Given the description of an element on the screen output the (x, y) to click on. 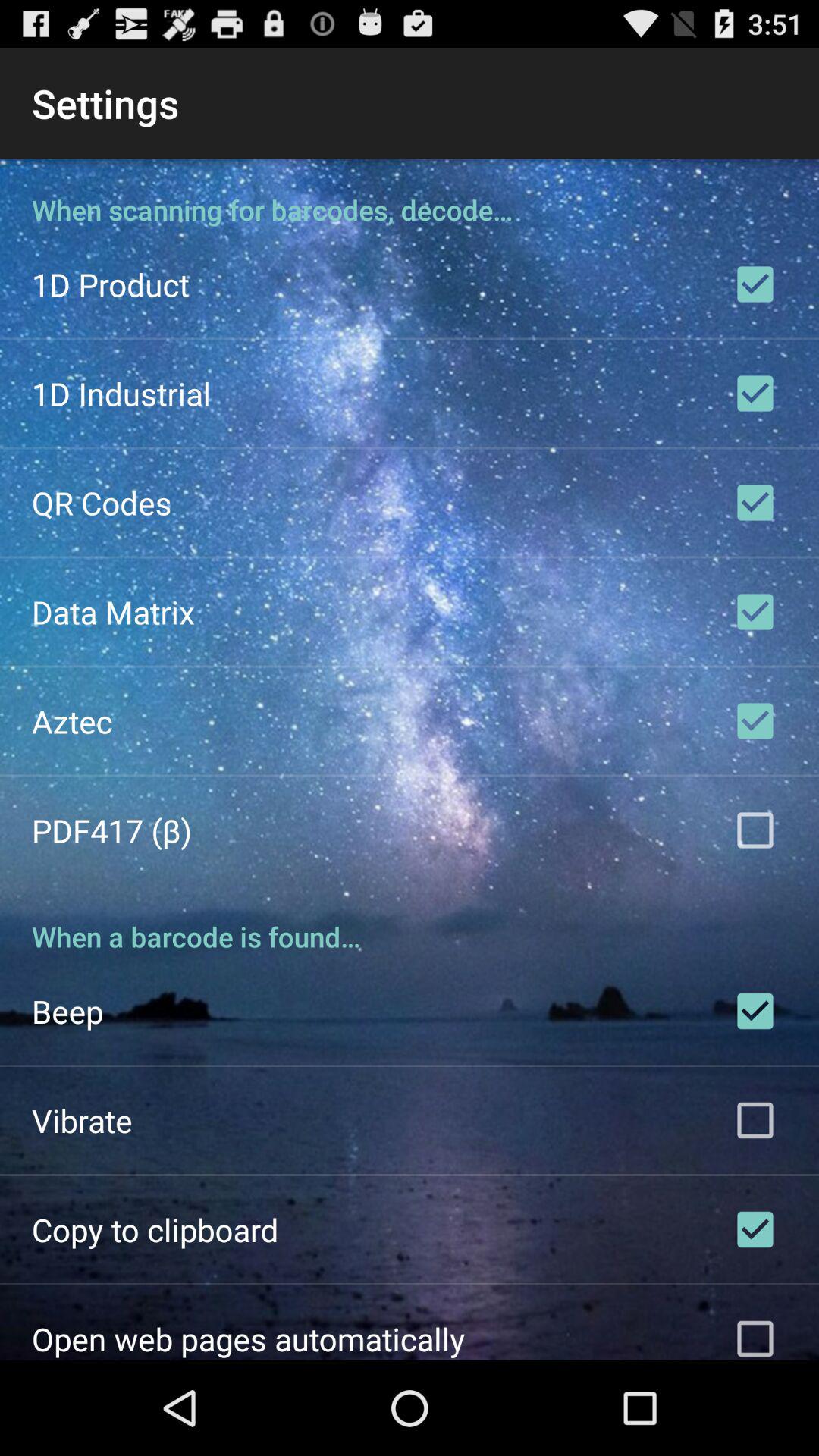
select the click box on vibrate row (755, 1121)
click on the button at 5th row beside aztec (755, 720)
click the icon at right side of 1d industrial (755, 393)
